Given the description of an element on the screen output the (x, y) to click on. 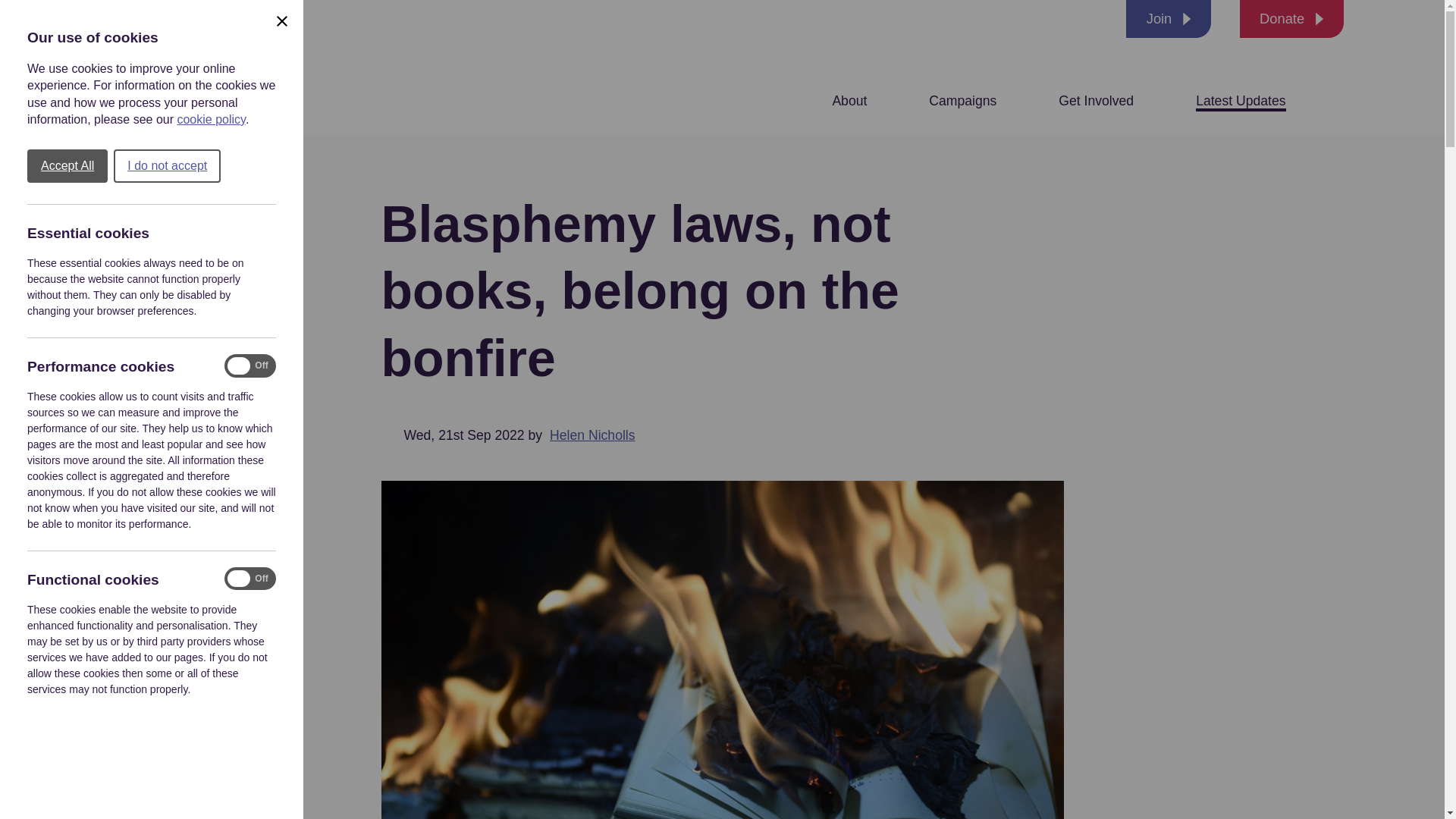
Get Involved (1096, 100)
cookie policy (210, 119)
Donate (1291, 18)
Campaigns (961, 100)
Logo (192, 66)
Click to show search (1332, 100)
I do not accept (167, 165)
Accept All (67, 165)
Latest Updates (1240, 100)
Helen Nicholls (592, 435)
